Given the description of an element on the screen output the (x, y) to click on. 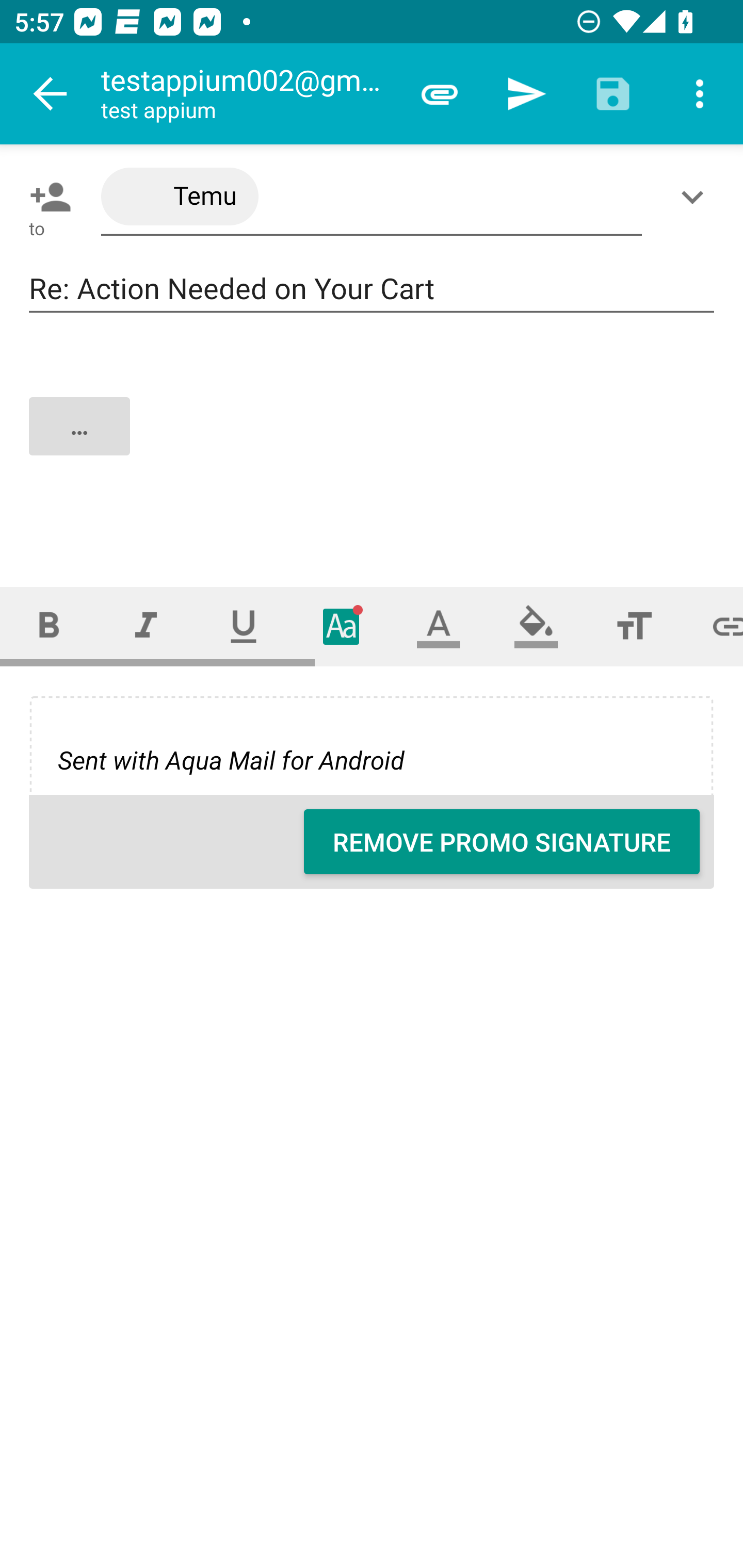
Navigate up (50, 93)
testappium002@gmail.com test appium (248, 93)
Attach (439, 93)
Send (525, 93)
Save (612, 93)
More options (699, 93)
Temu <temu@shop.temuofficial.com>,  (371, 197)
Pick contact: To (46, 196)
Show/Add CC/BCC (696, 196)
Re: Action Needed on Your Cart (371, 288)

…
 (372, 442)
Bold (48, 626)
Italic (145, 626)
Underline (243, 626)
Typeface (font) (341, 626)
Text color (438, 626)
Fill color (536, 626)
Font size (633, 626)
Set link (712, 626)
REMOVE PROMO SIGNATURE (501, 841)
